Given the description of an element on the screen output the (x, y) to click on. 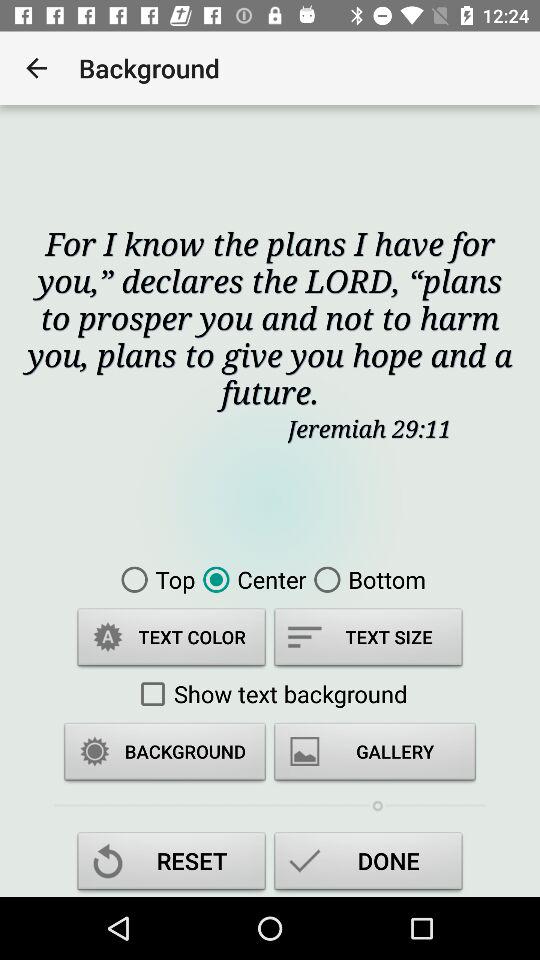
open item next to bottom icon (250, 579)
